Given the description of an element on the screen output the (x, y) to click on. 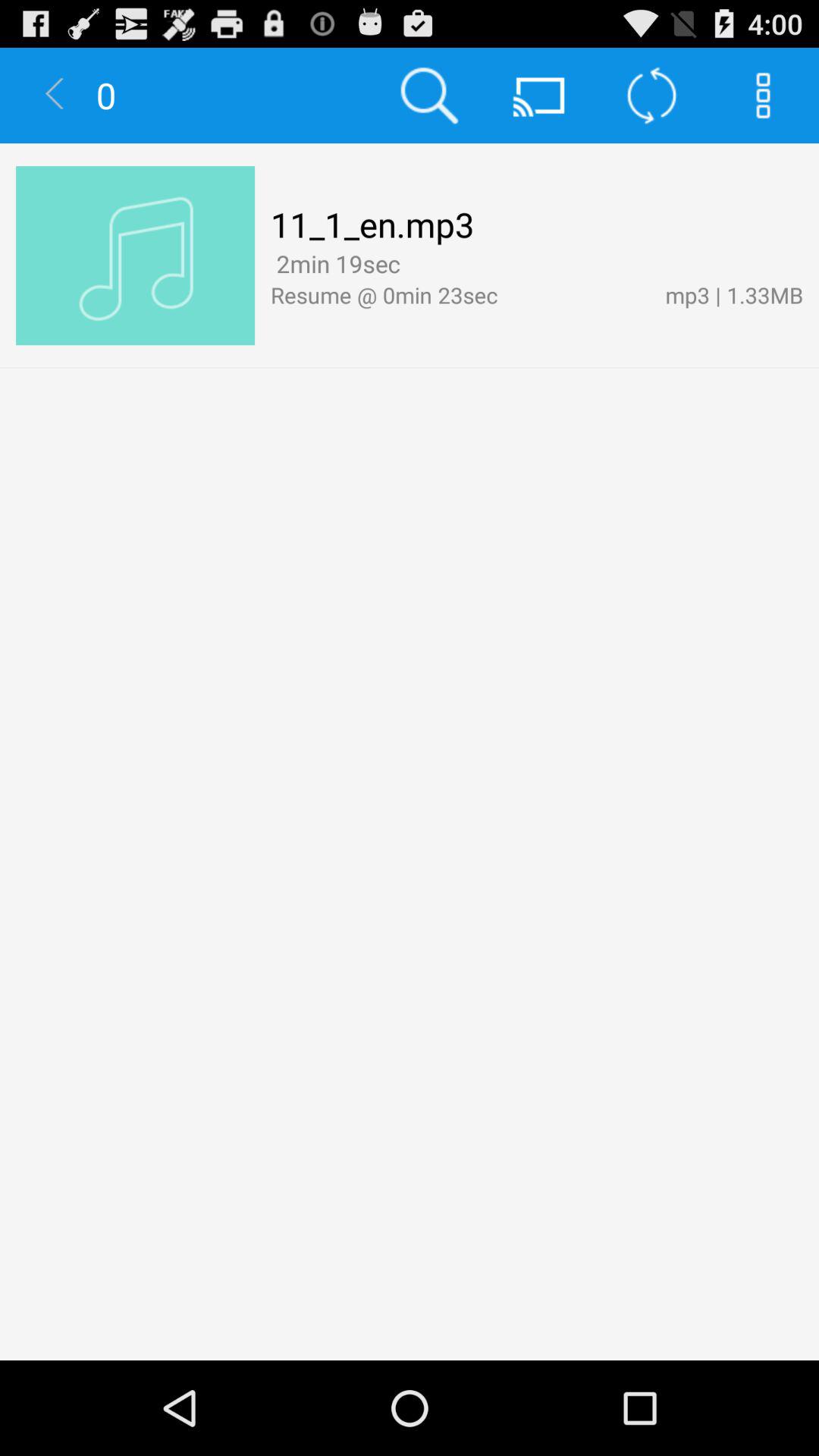
turn on the  2min 19sec item (335, 263)
